Given the description of an element on the screen output the (x, y) to click on. 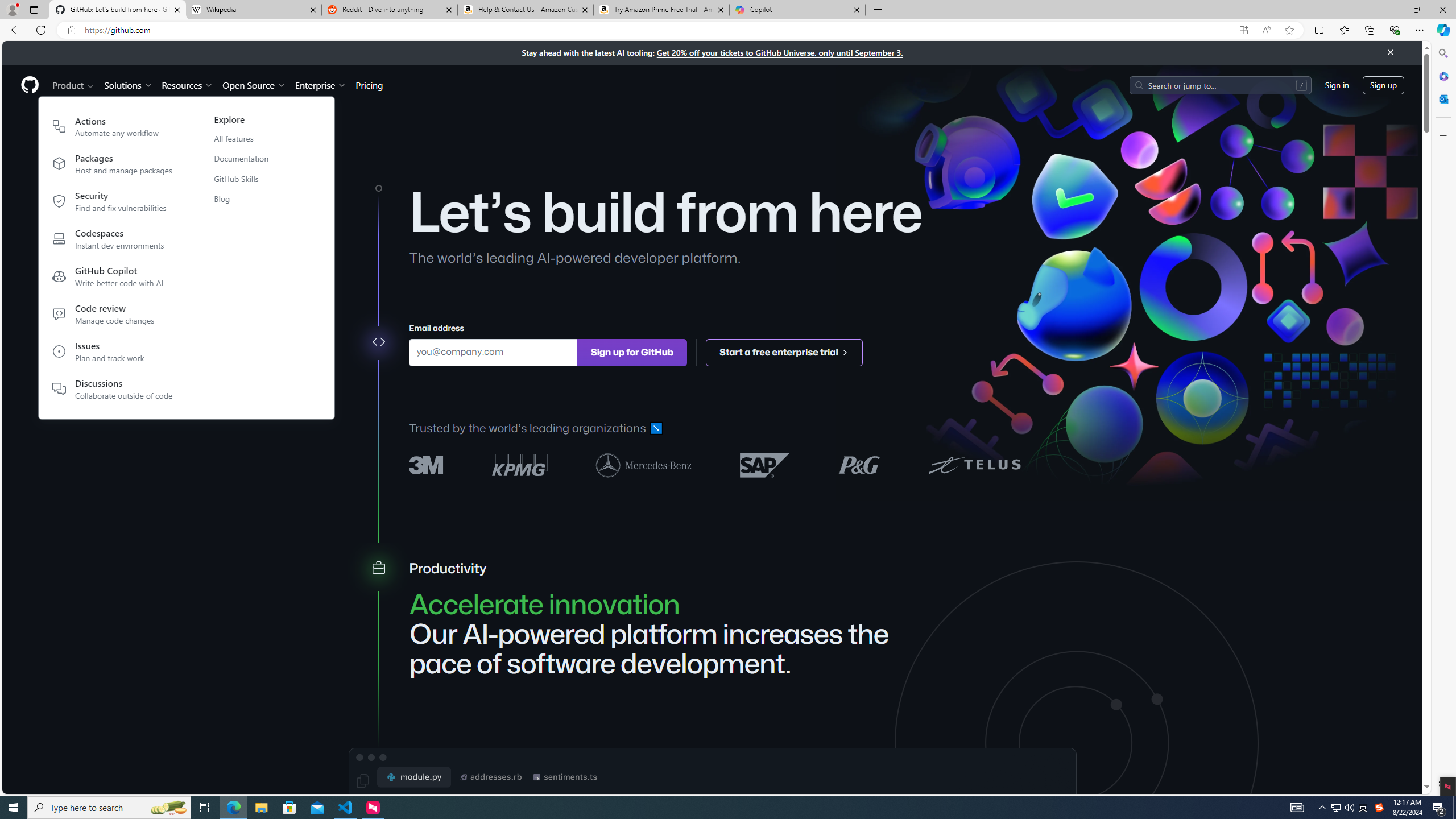
Email address (492, 352)
DiscussionsCollaborate outside of code (112, 389)
ActionsAutomate any workflow (112, 128)
All features (248, 138)
Resources (187, 84)
PackagesHost and manage packages (112, 166)
SecurityFind and fix vulnerabilities (112, 203)
Codespaces Instant dev environments (112, 241)
